Given the description of an element on the screen output the (x, y) to click on. 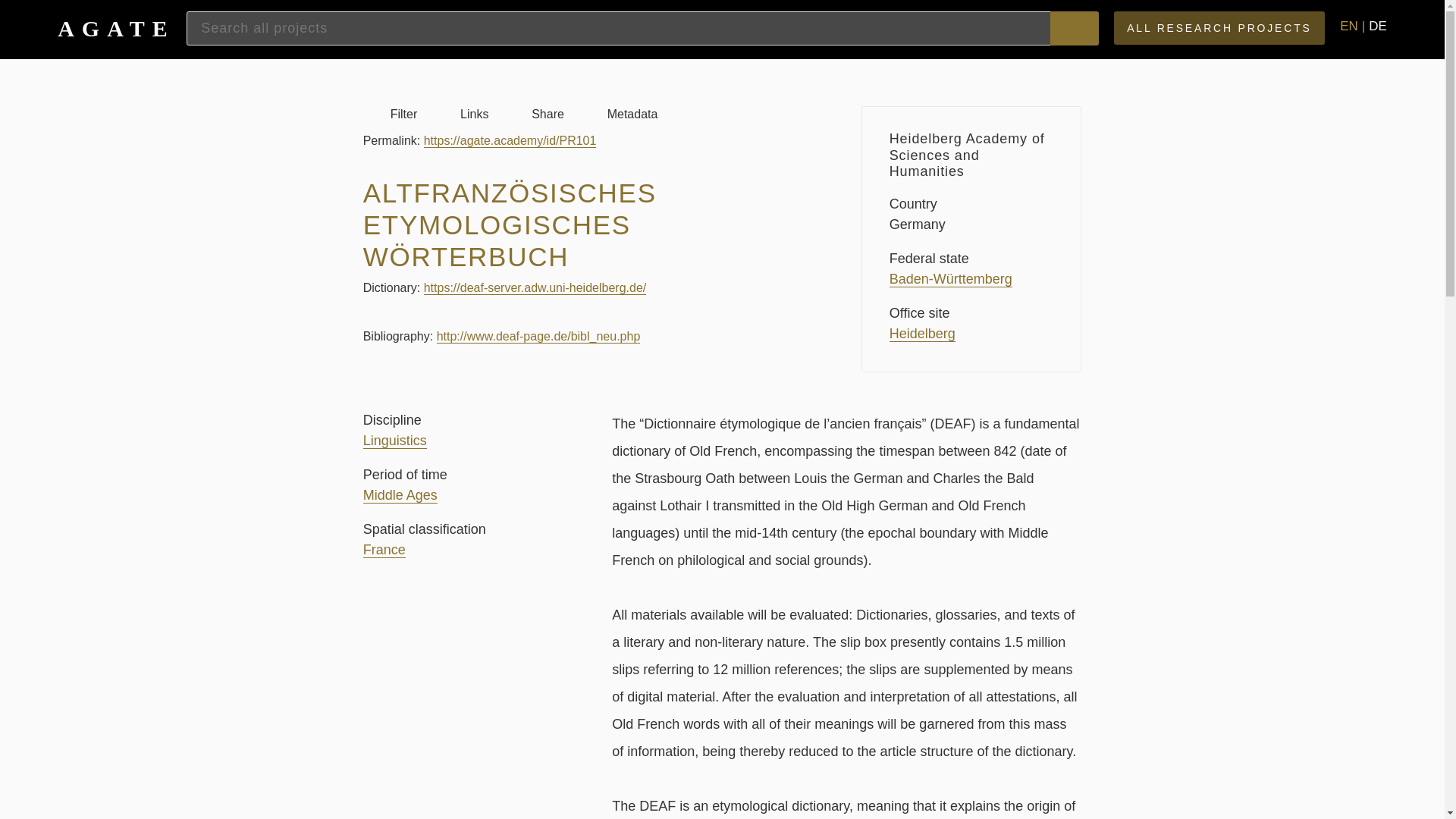
ALL RESEARCH PROJECTS (1218, 28)
France (384, 549)
DE (1377, 25)
Middle Ages (400, 495)
Share (533, 113)
Linguistics (394, 440)
AGATE (122, 28)
Metadata (618, 113)
Links (459, 113)
Search (1074, 28)
